Given the description of an element on the screen output the (x, y) to click on. 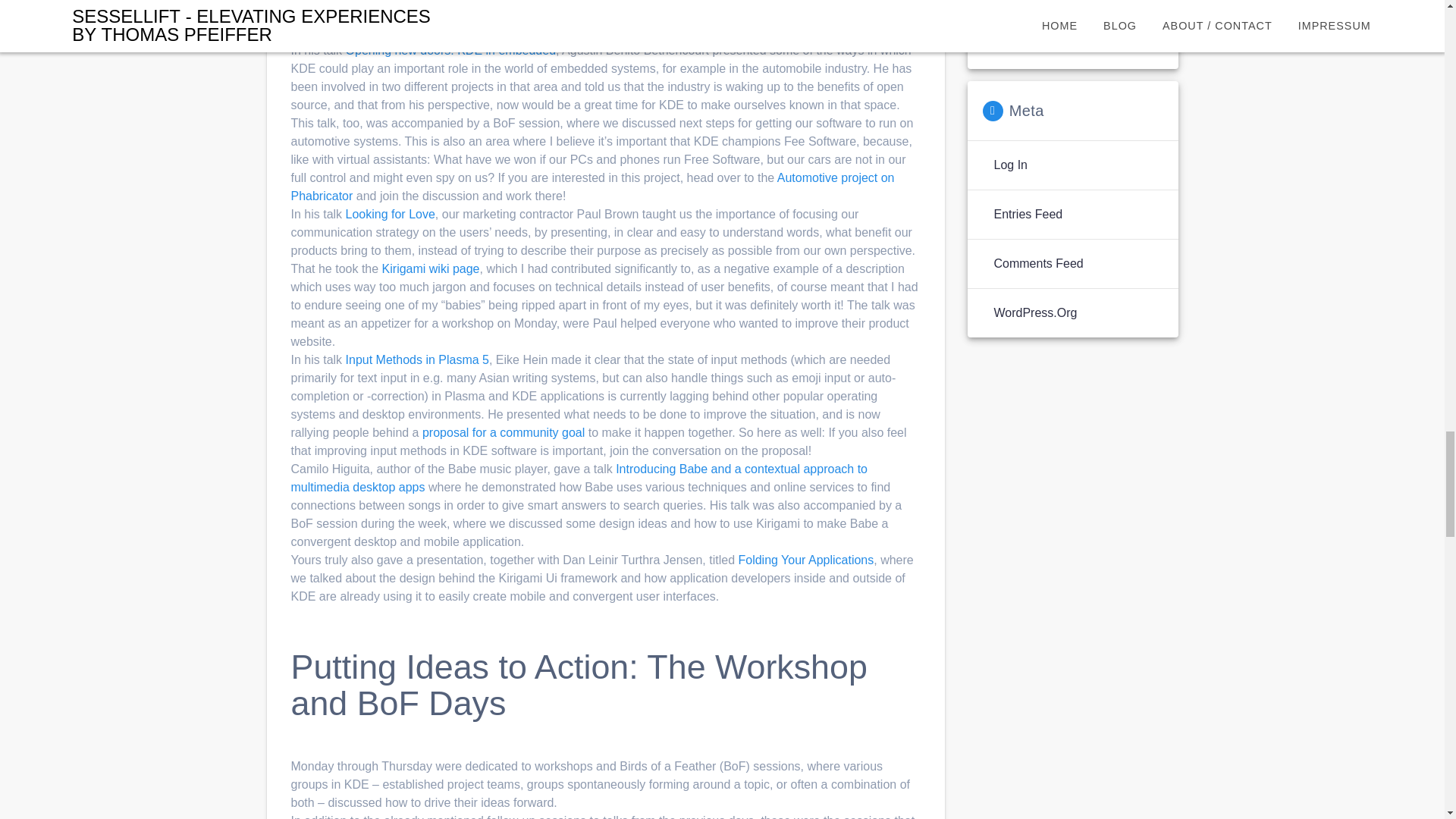
Folding Your Applications (805, 559)
Kirigami wiki page (430, 268)
proposal for a community goal (503, 431)
Opening new doors: KDE in embedded (451, 50)
Automotive project on Phabricator (593, 186)
Input Methods in Plasma 5 (417, 359)
Looking for Love (390, 214)
